Given the description of an element on the screen output the (x, y) to click on. 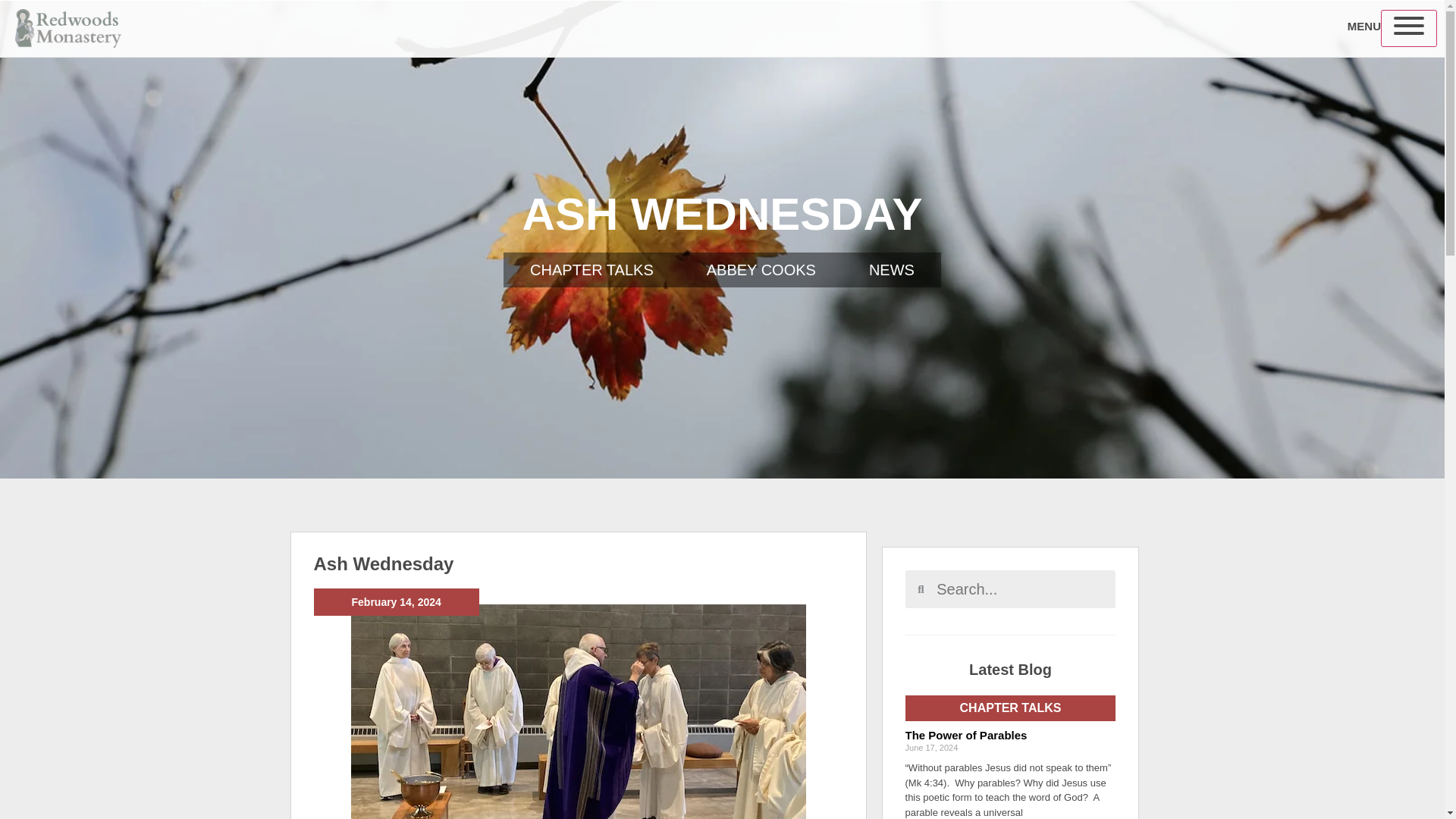
ABBEY COOKS (761, 269)
MENU (1364, 25)
The Power of Parables (966, 735)
CHAPTER TALKS (591, 269)
NEWS (891, 269)
